Given the description of an element on the screen output the (x, y) to click on. 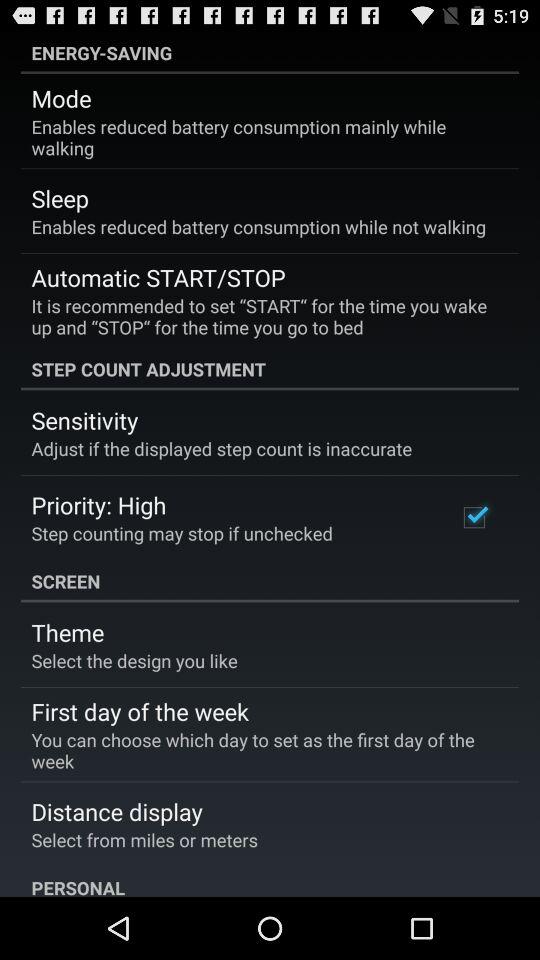
select the item below the step count adjustment icon (474, 517)
